Given the description of an element on the screen output the (x, y) to click on. 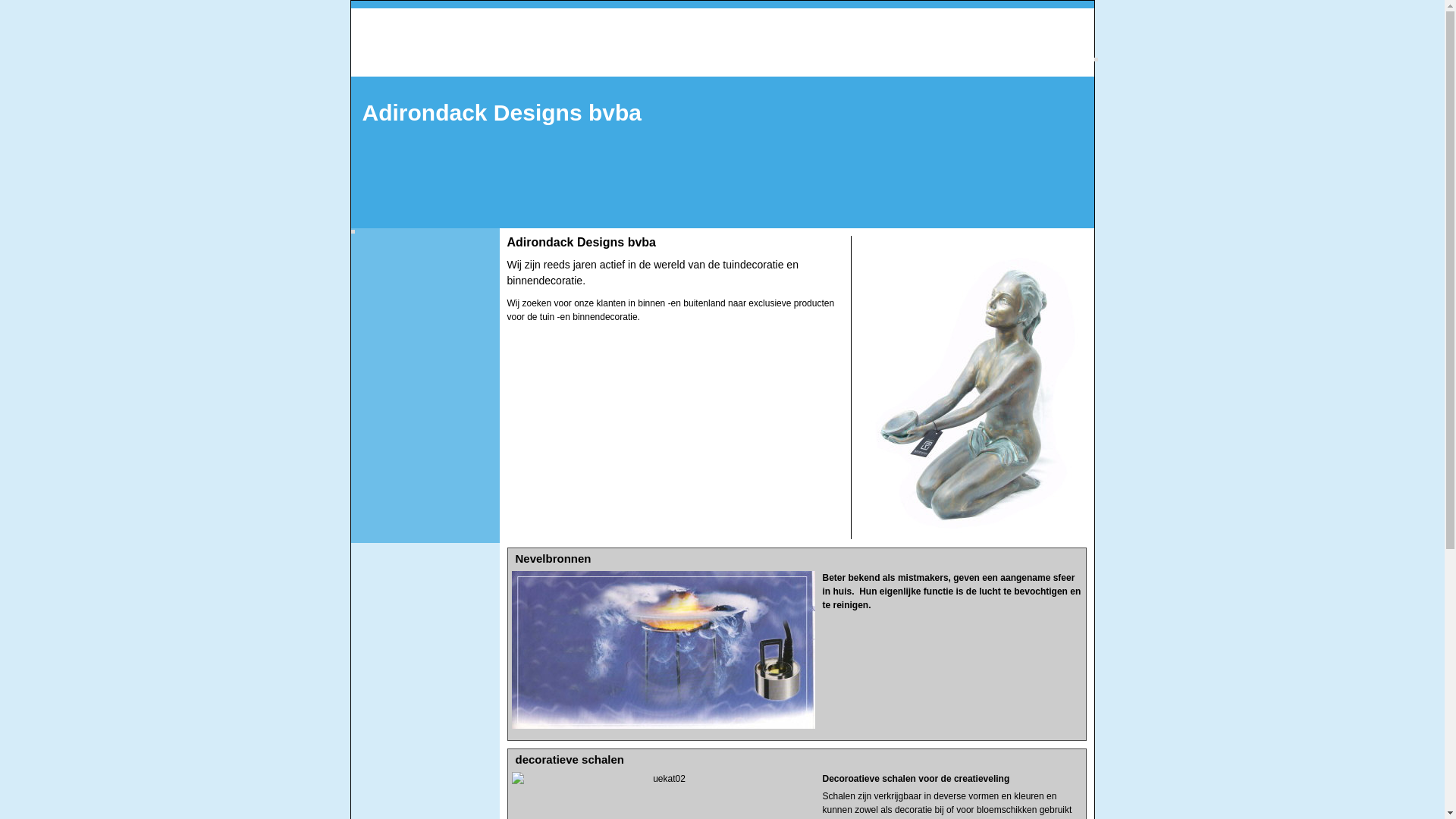
P9031859 Element type: hover (971, 387)
Adirondack Designs bvba Element type: text (551, 112)
vernevelaar-algemeen2 Element type: hover (662, 649)
